Given the description of an element on the screen output the (x, y) to click on. 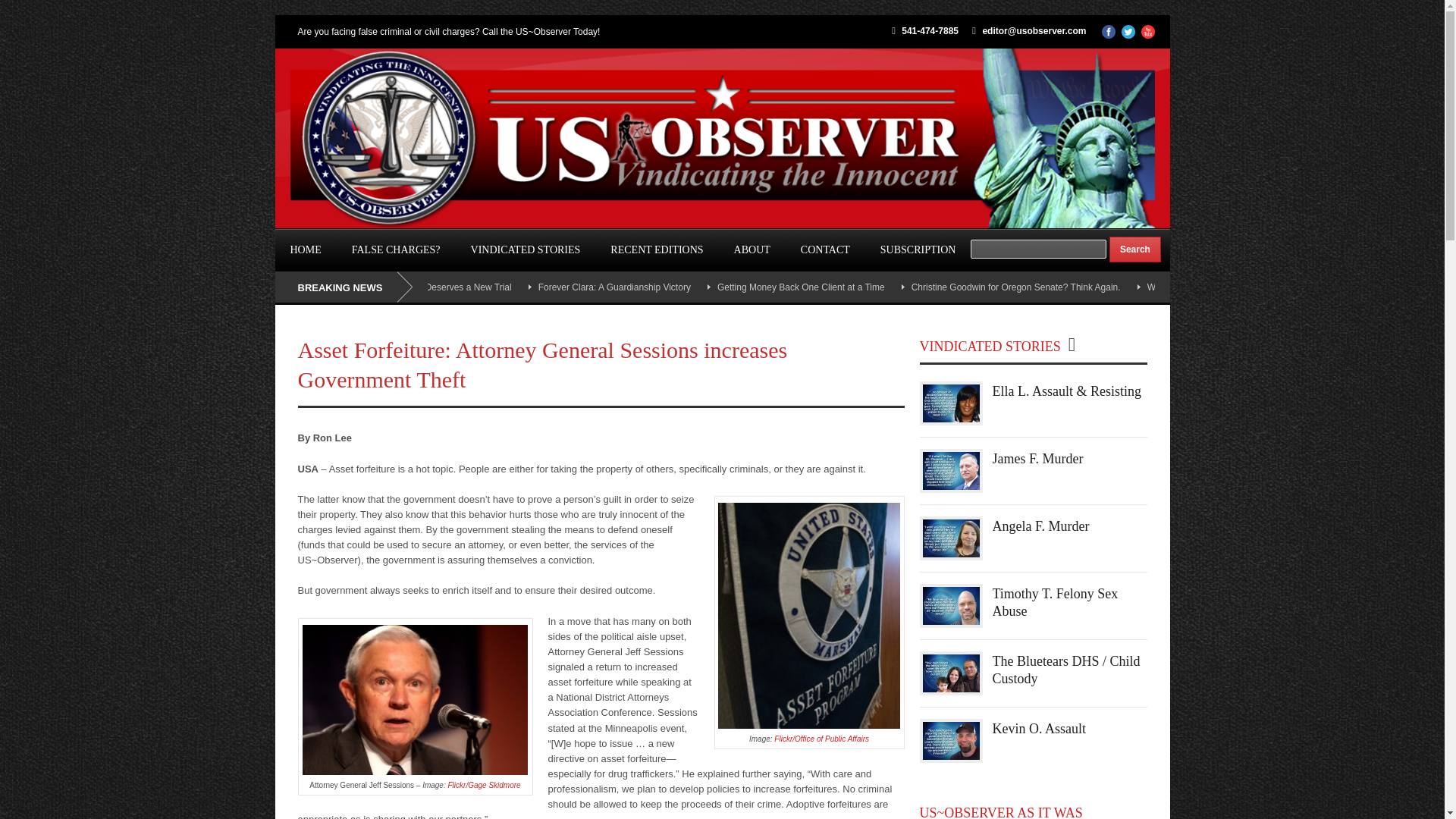
ABOUT (752, 250)
Christine Goodwin for Oregon Senate? Think Again. (1016, 286)
Why Vote No on Josephine County Measure 17-116? (1254, 286)
Forever Clara: A Guardianship Victory (614, 286)
Mark Worth Deserves a New Trial (443, 286)
CONTACT (825, 250)
